Given the description of an element on the screen output the (x, y) to click on. 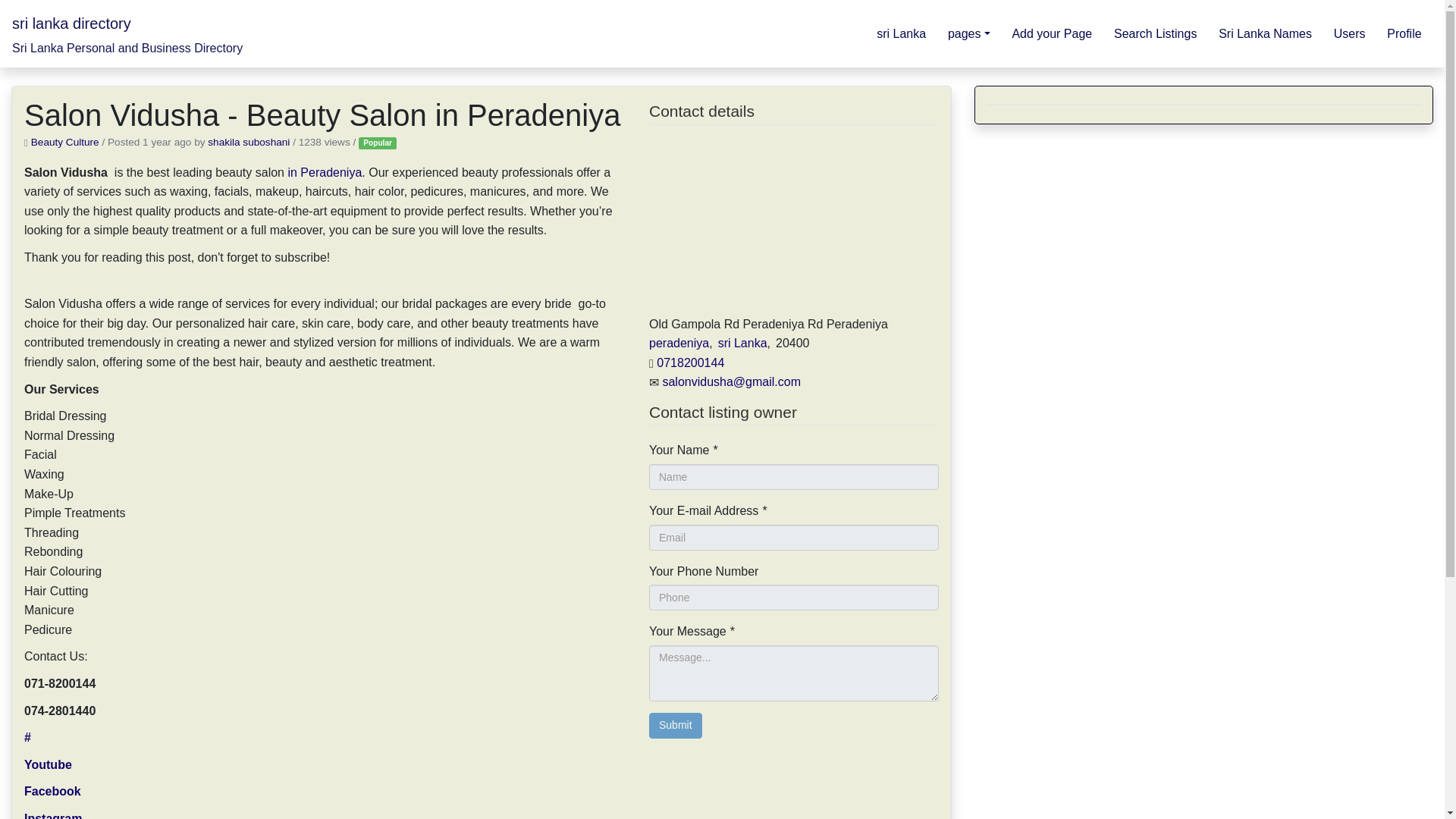
Add your Page (1052, 33)
in Peradeniya (322, 172)
Facebook (52, 790)
Sri Lanka Names (1265, 33)
pages (969, 33)
Submit (675, 725)
Search Listings (1155, 33)
Users (1348, 33)
sri Lanka (742, 342)
sri lanka directory (71, 22)
Profile (1403, 33)
peradeniya (679, 342)
Sri Lanka Personal and Business Directory (127, 47)
sri lanka directory (71, 22)
Instagram (52, 815)
